Given the description of an element on the screen output the (x, y) to click on. 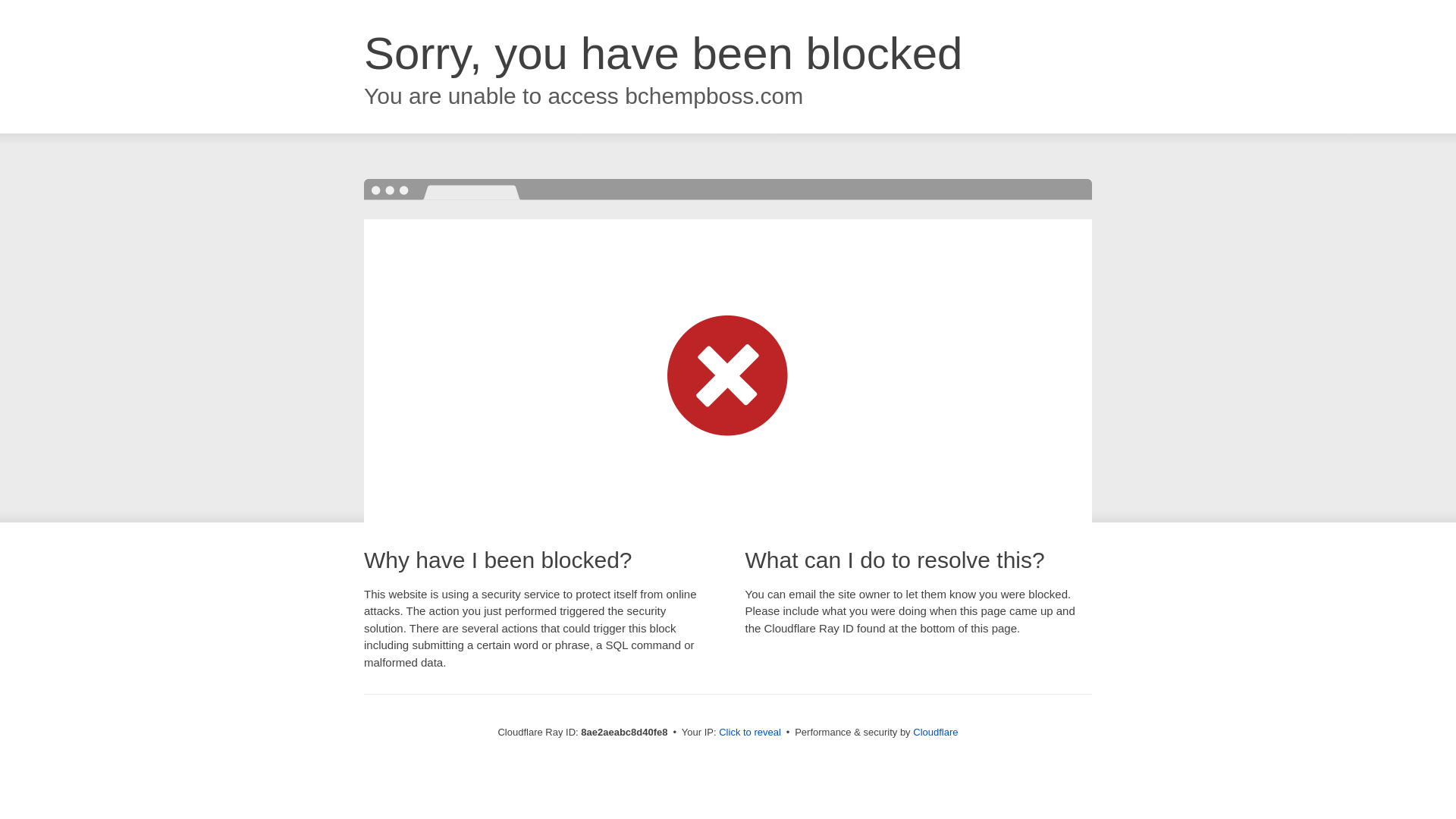
Click to reveal (749, 732)
Cloudflare (935, 731)
